Given the description of an element on the screen output the (x, y) to click on. 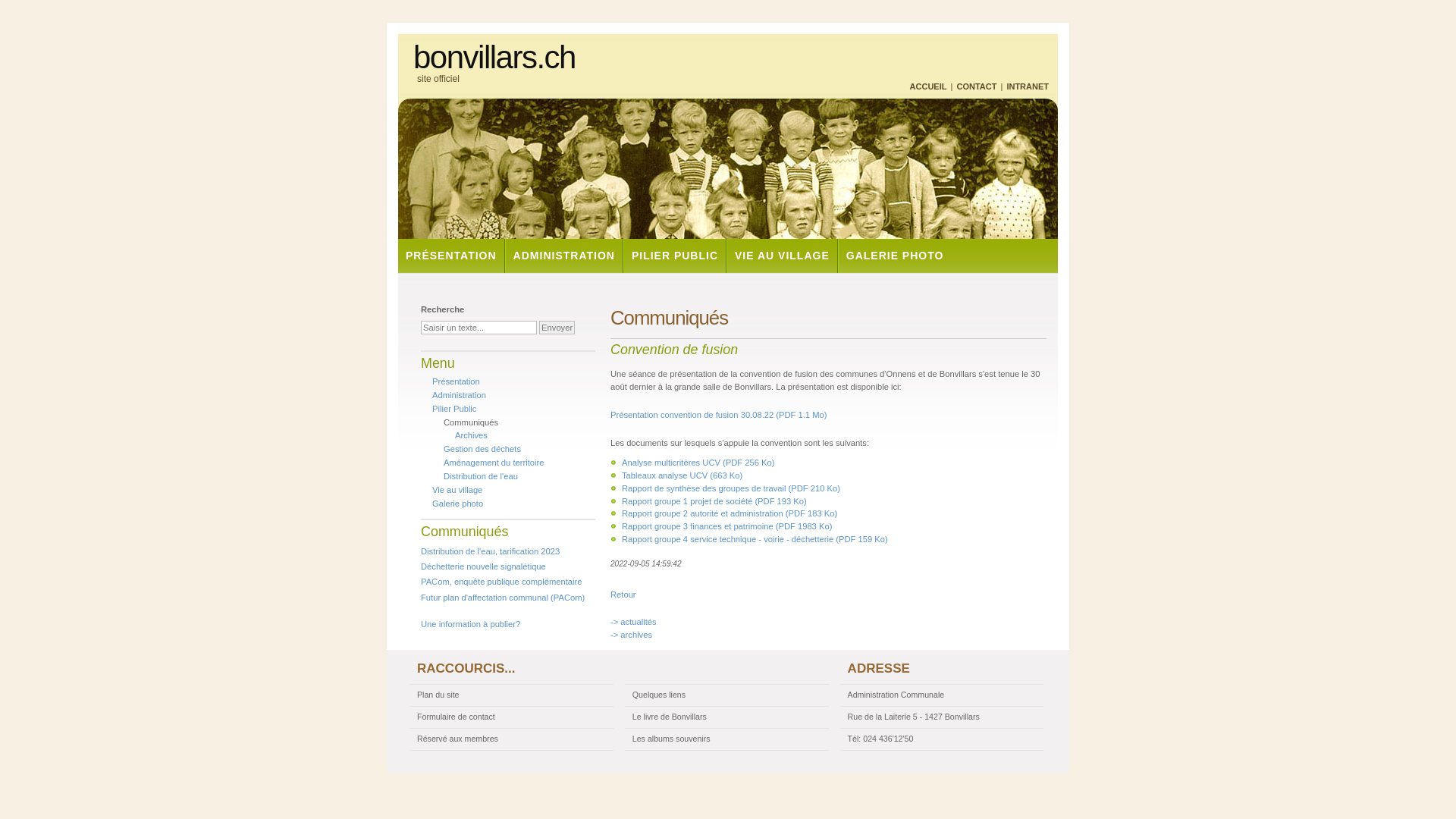
bonvillars.ch Element type: text (494, 57)
Rapport groupe 3 finances et patrimoine (PDF 1983 Ko) Element type: text (726, 525)
Quelques liens Element type: text (726, 695)
VIE AU VILLAGE Element type: text (781, 255)
Galerie photo Element type: text (457, 503)
Le livre de Bonvillars Element type: text (726, 717)
Distribution de l'eau Element type: text (480, 475)
INTRANET Element type: text (1027, 86)
Vie au village Element type: text (457, 489)
ACCUEIL Element type: text (928, 86)
Formulaire de contact Element type: text (510, 717)
Tableaux analyse UCV (663 Ko) Element type: text (681, 475)
Plan du site Element type: text (510, 695)
ADMINISTRATION Element type: text (563, 255)
Les albums souvenirs Element type: text (726, 738)
-> archives Element type: text (631, 634)
Archives Element type: text (471, 434)
Distribution de l'eau, tarification 2023 Element type: text (489, 550)
GALERIE PHOTO Element type: text (894, 255)
Administration Element type: text (459, 394)
PILIER PUBLIC Element type: text (673, 255)
Futur plan d'affectation communal (PACom) Element type: text (502, 597)
Administration Communale Element type: text (941, 695)
Rue de la Laiterie 5 - 1427 Bonvillars Element type: text (941, 717)
Pilier Public Element type: text (454, 408)
CONTACT Element type: text (975, 86)
Retour Element type: text (623, 594)
Envoyer Element type: text (556, 327)
